Given the description of an element on the screen output the (x, y) to click on. 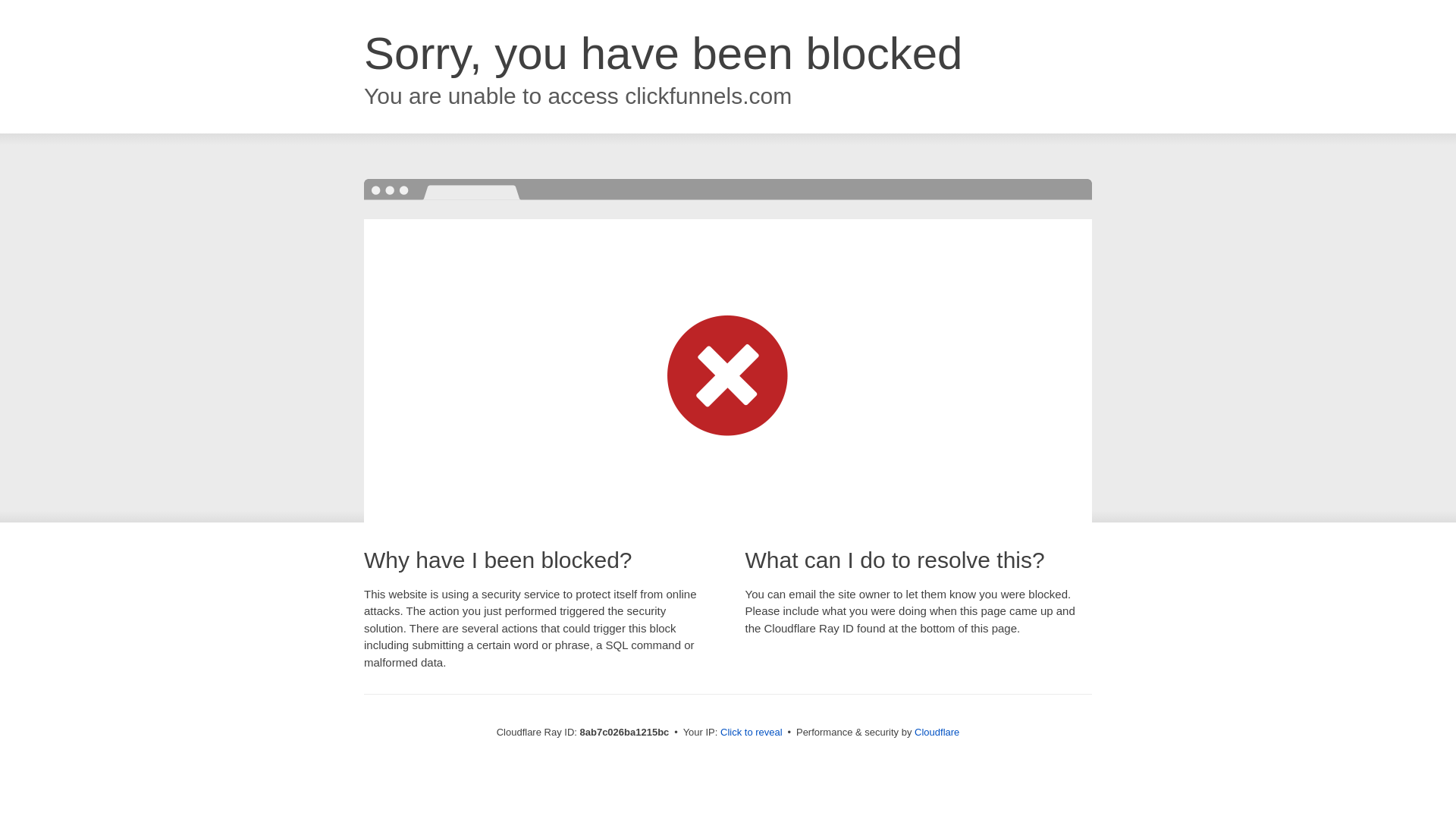
Click to reveal (751, 732)
Cloudflare (936, 731)
